Given the description of an element on the screen output the (x, y) to click on. 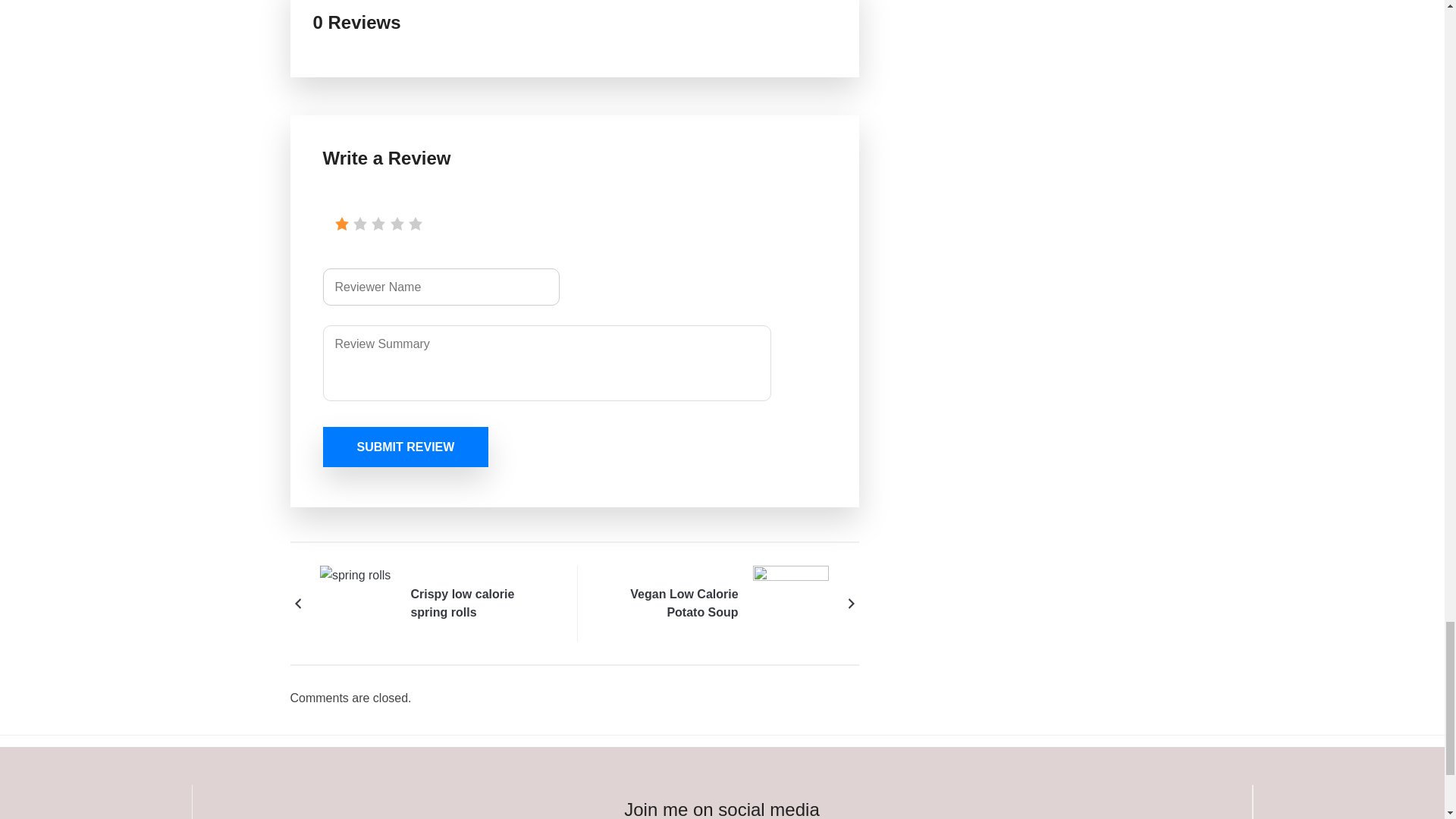
Crispy low calorie spring rolls (480, 603)
Crispy low calorie spring rolls (357, 602)
Vegan Low Calorie Potato Soup (790, 602)
Vegan Low Calorie Potato Soup (667, 603)
